Given the description of an element on the screen output the (x, y) to click on. 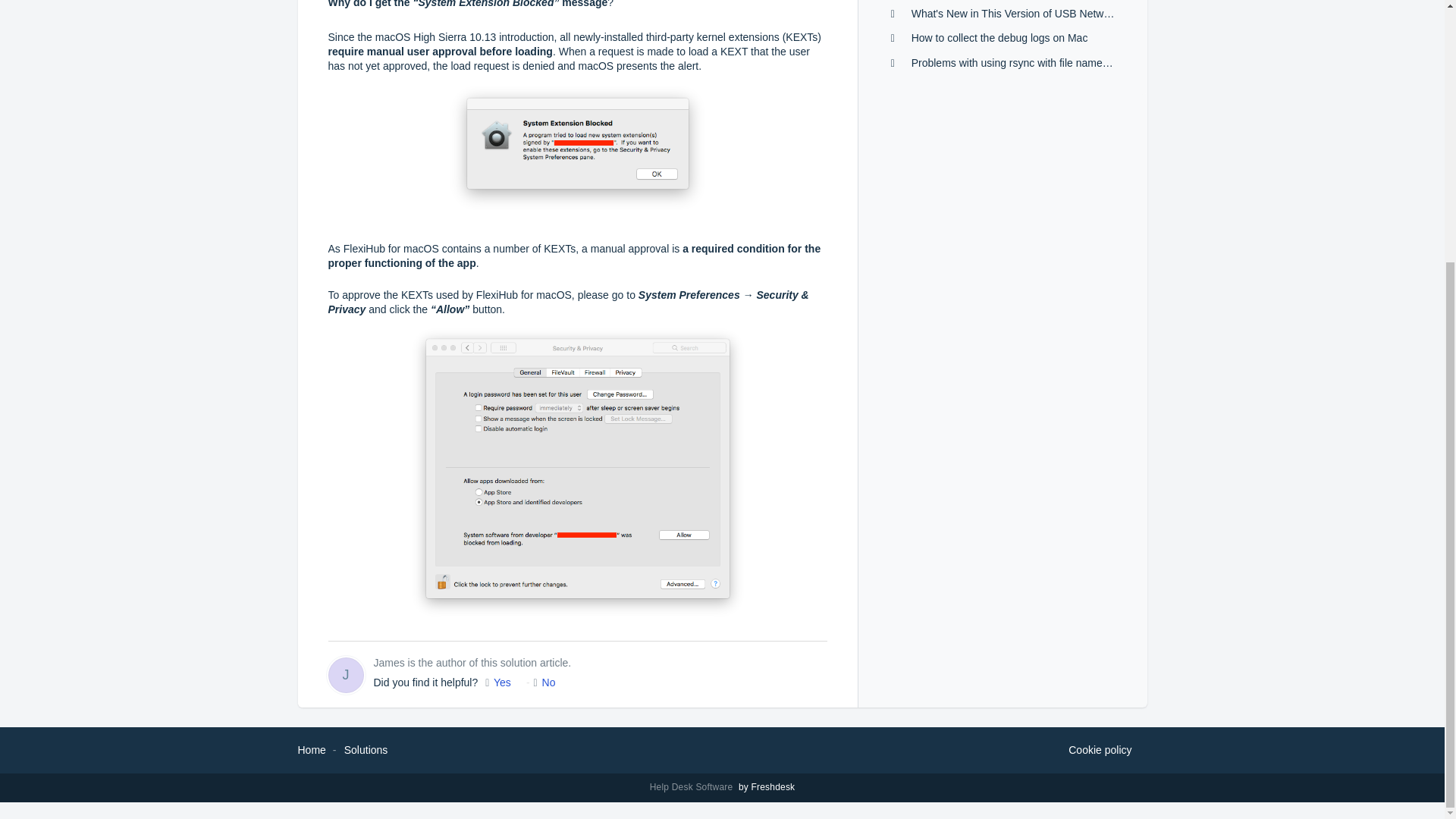
How to collect the debug logs on Mac (999, 37)
Cookie policy (1099, 750)
Help Desk Software (693, 787)
Why we love Cookies (1099, 750)
What's New in This Version of USB Network Gate for Mac (1046, 13)
Solutions (365, 749)
Home (310, 749)
